Given the description of an element on the screen output the (x, y) to click on. 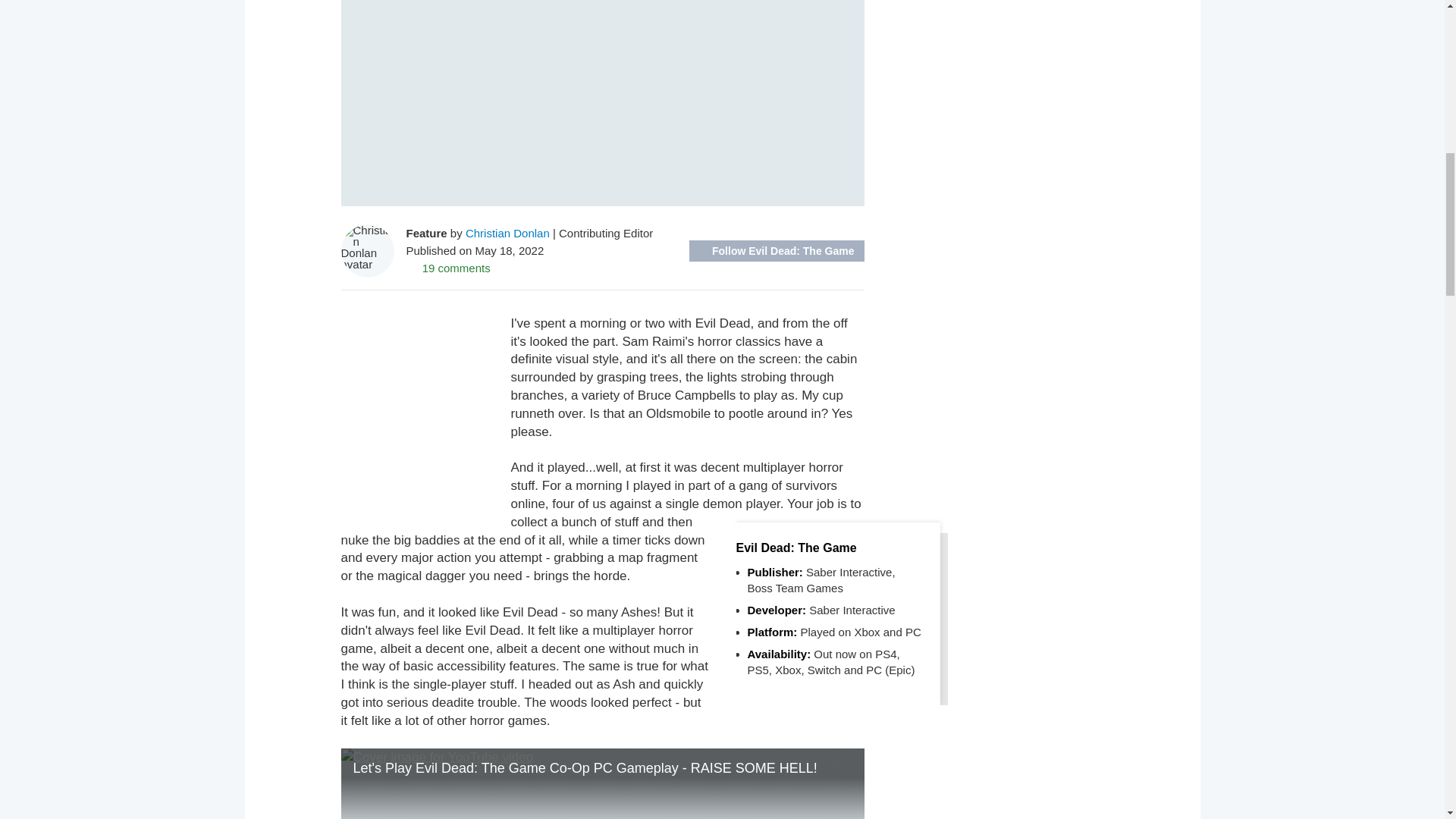
Christian Donlan (507, 232)
19 comments (448, 267)
Follow Evil Dead: The Game (775, 250)
